Given the description of an element on the screen output the (x, y) to click on. 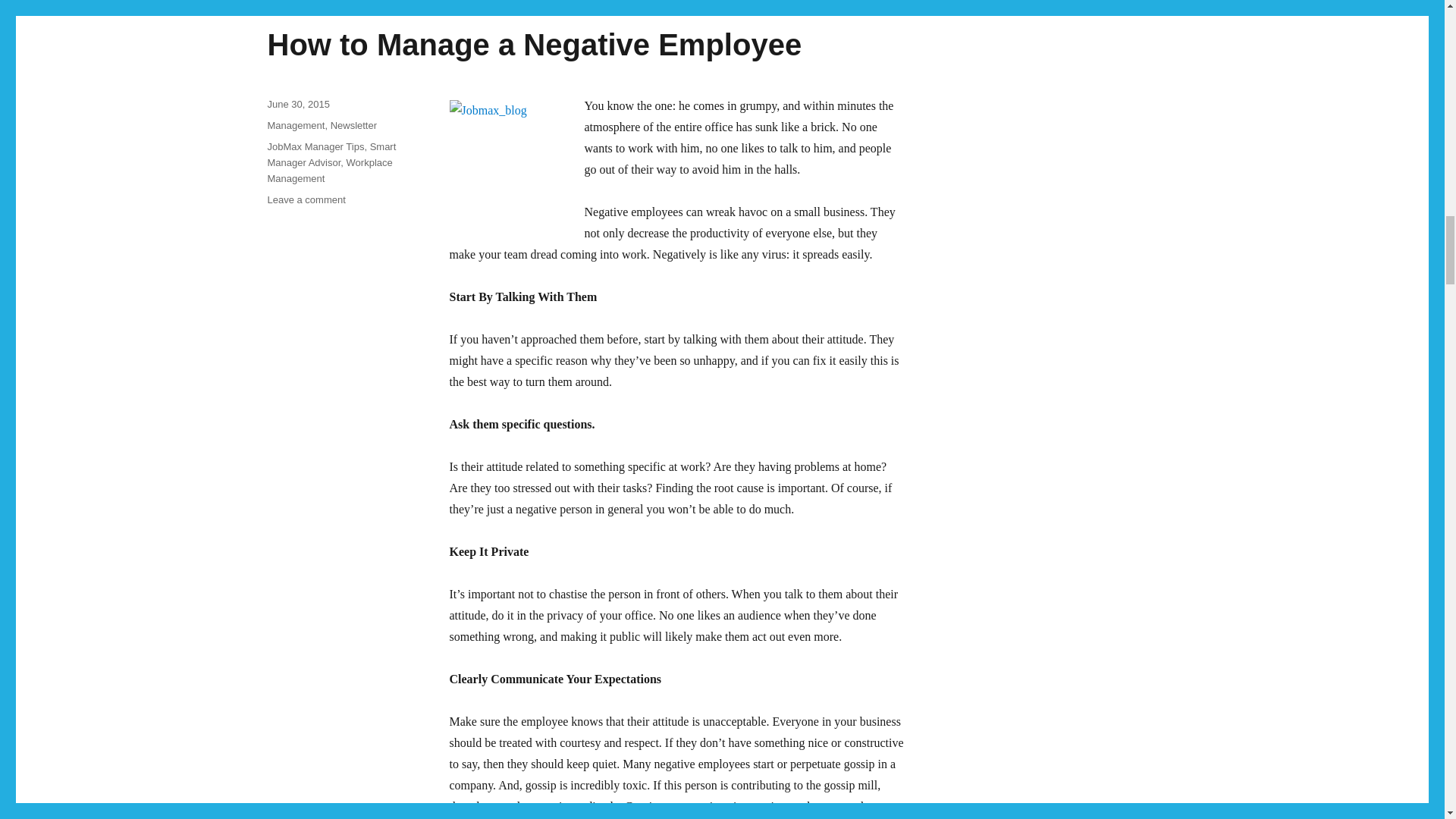
Management (295, 125)
June 30, 2015 (297, 103)
How to Manage a Negative Employee (305, 199)
Newsletter (534, 44)
Workplace Management (353, 125)
JobMax Manager Tips (328, 170)
Smart Manager Advisor (315, 146)
